Given the description of an element on the screen output the (x, y) to click on. 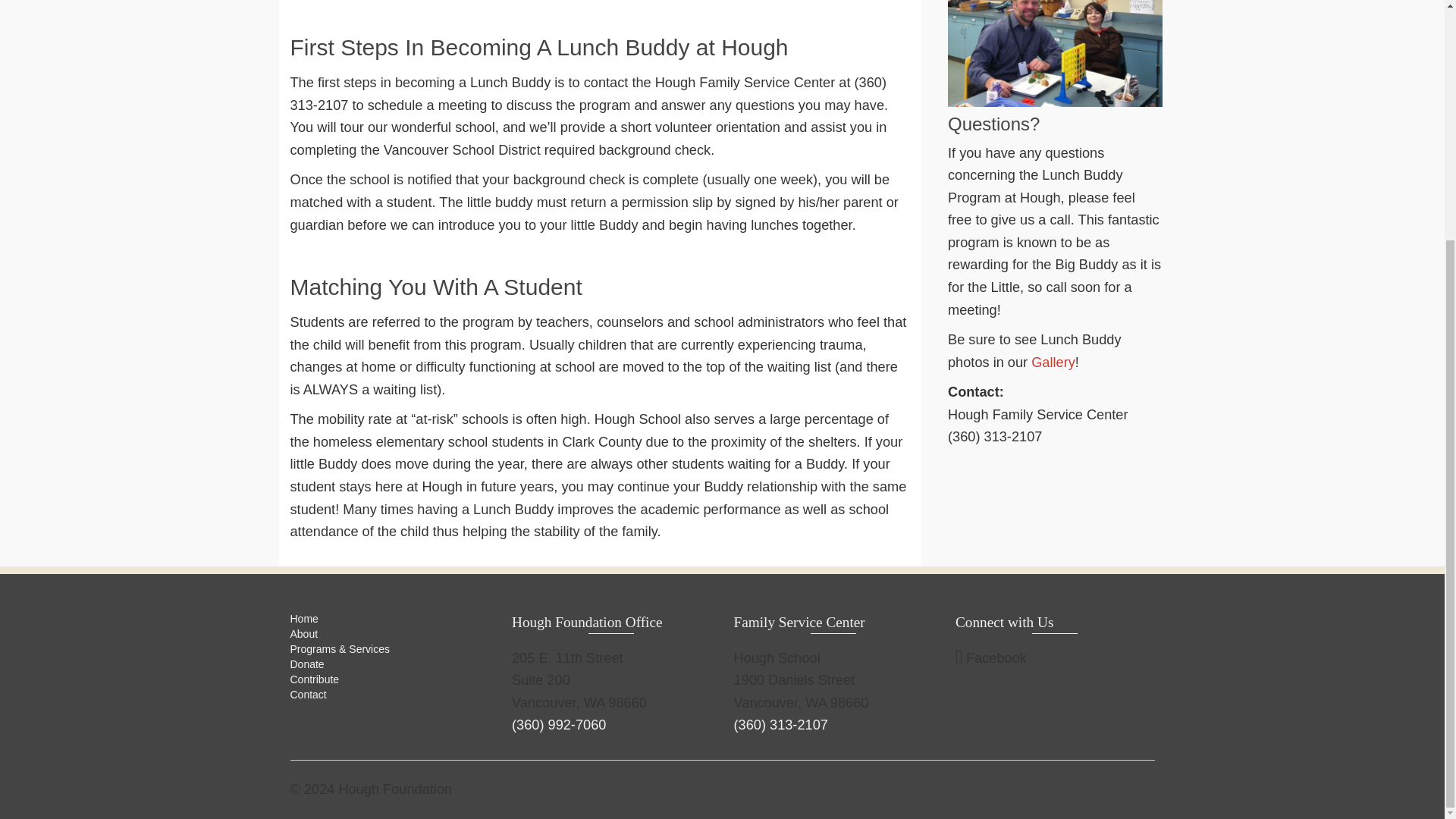
Gallery (1052, 362)
Facebook (990, 658)
Contribute (314, 679)
About (303, 633)
Home (303, 618)
Contact (307, 694)
Donate (306, 664)
